Given the description of an element on the screen output the (x, y) to click on. 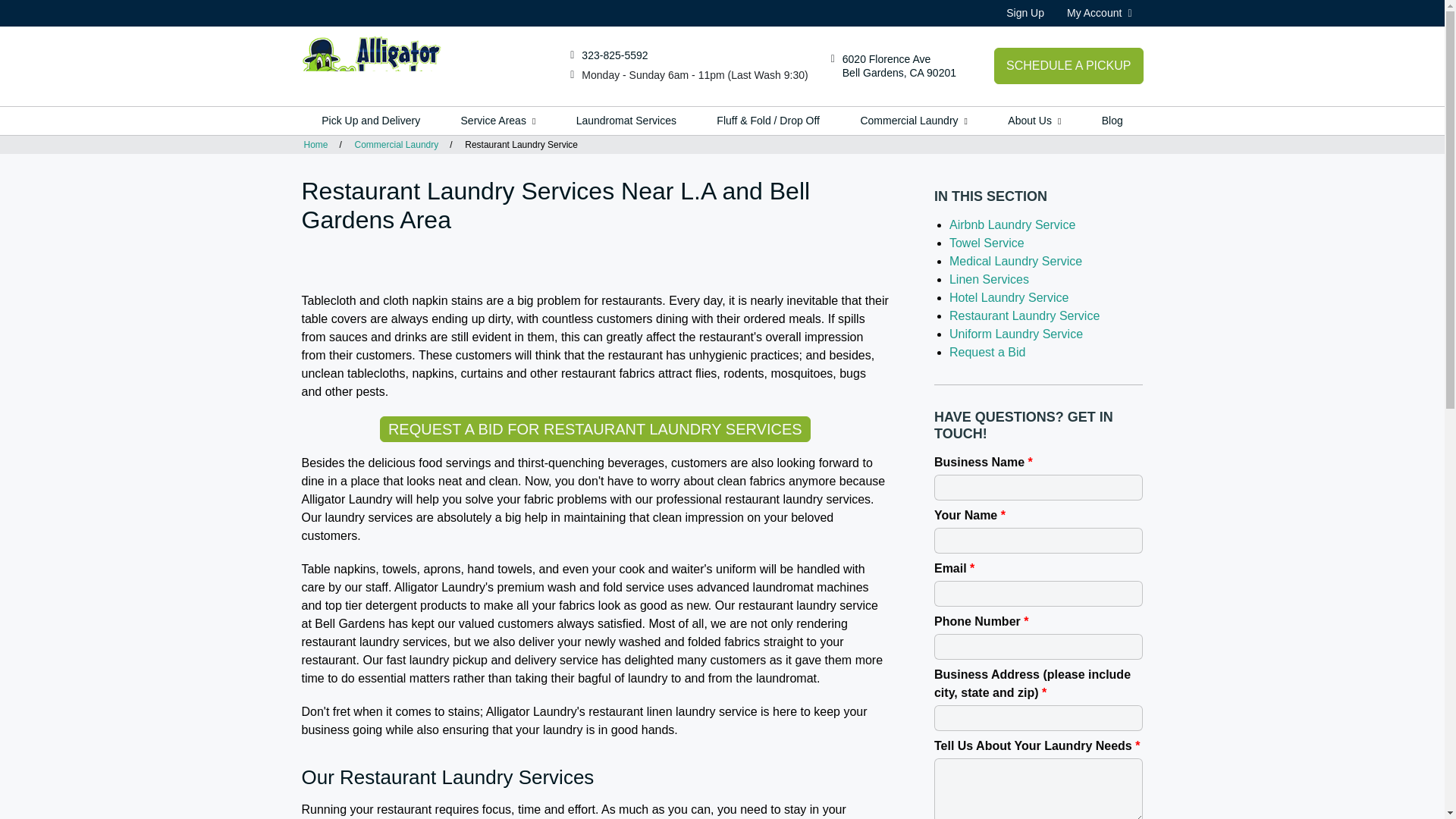
Sign Up (1024, 12)
Sign Up (1024, 12)
323-825-5592 (613, 55)
About Us (1034, 121)
SCHEDULE A PICKUP (1068, 65)
Service Areas (899, 65)
Service Areas (498, 121)
My Account (498, 121)
Call 323-825-5592 (1099, 12)
Commercial Laundry (613, 55)
Pick Up and Delivery (914, 121)
My Account (371, 121)
Schedule a Pickup (1099, 12)
Home (1068, 65)
